Given the description of an element on the screen output the (x, y) to click on. 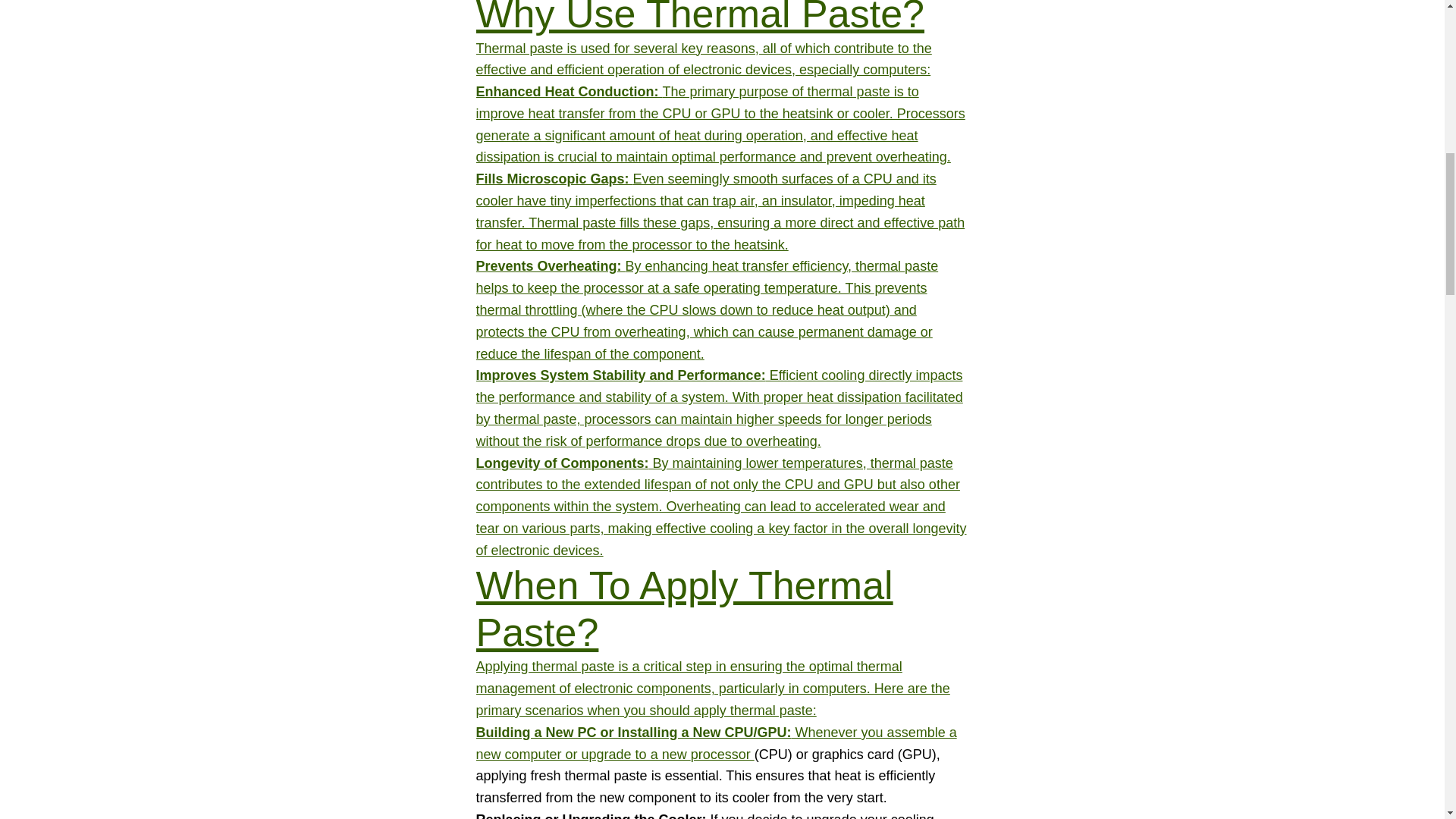
When To Apply Thermal Paste? (684, 608)
processor (722, 754)
Why Use Thermal Paste? (700, 18)
